Given the description of an element on the screen output the (x, y) to click on. 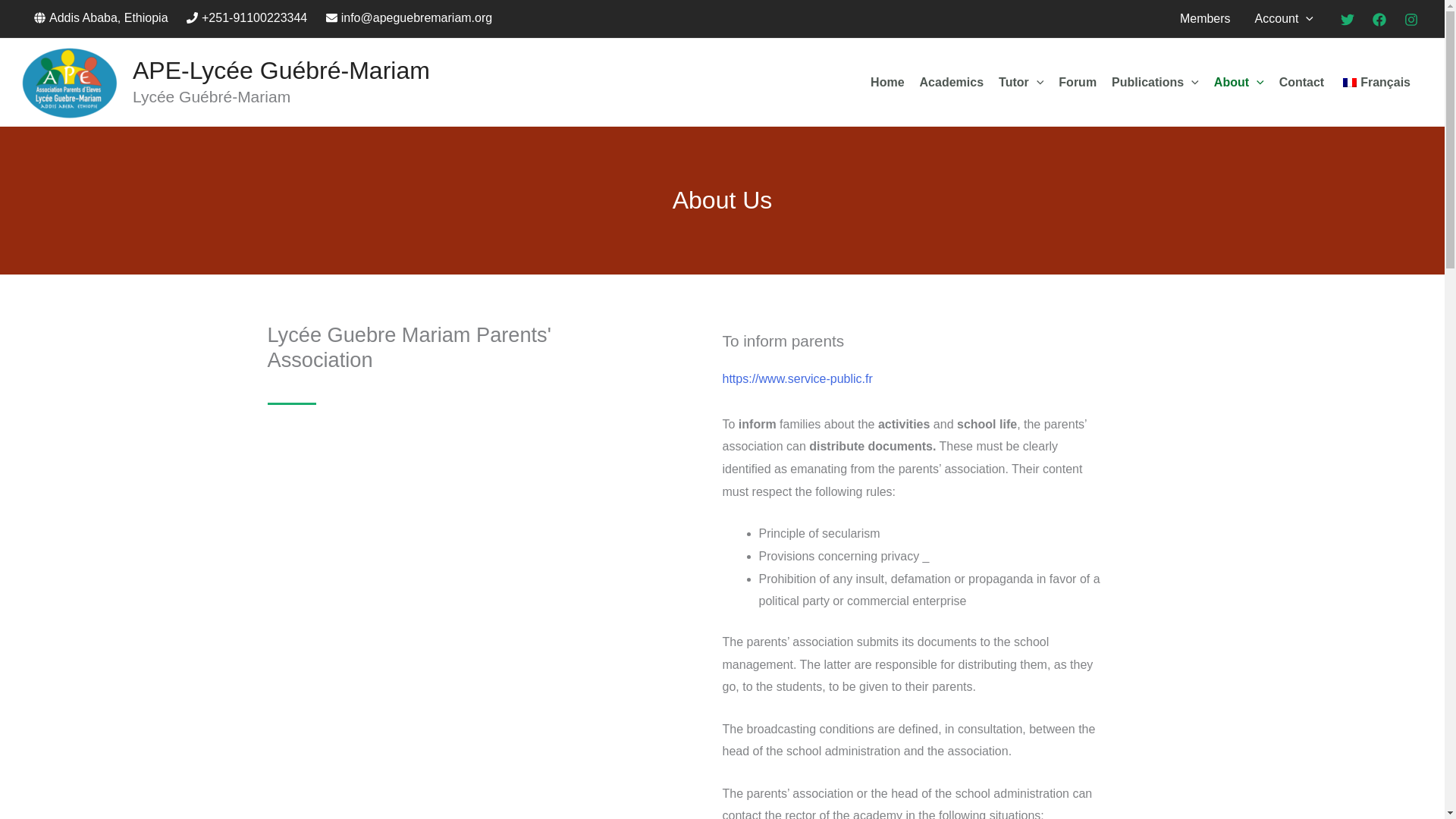
Publications (1155, 82)
Account (1283, 18)
Members (1205, 18)
Academics (951, 82)
